Given the description of an element on the screen output the (x, y) to click on. 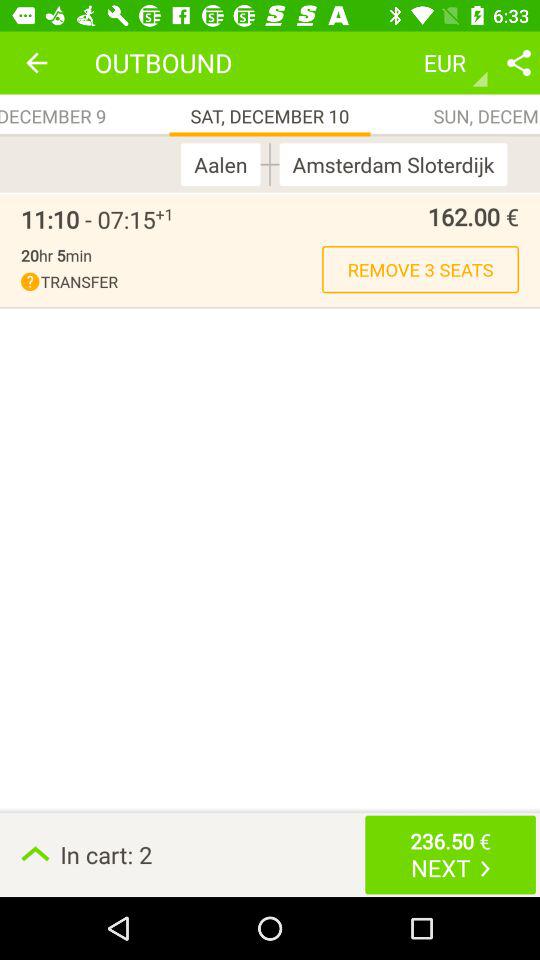
flip until aalen item (225, 164)
